Given the description of an element on the screen output the (x, y) to click on. 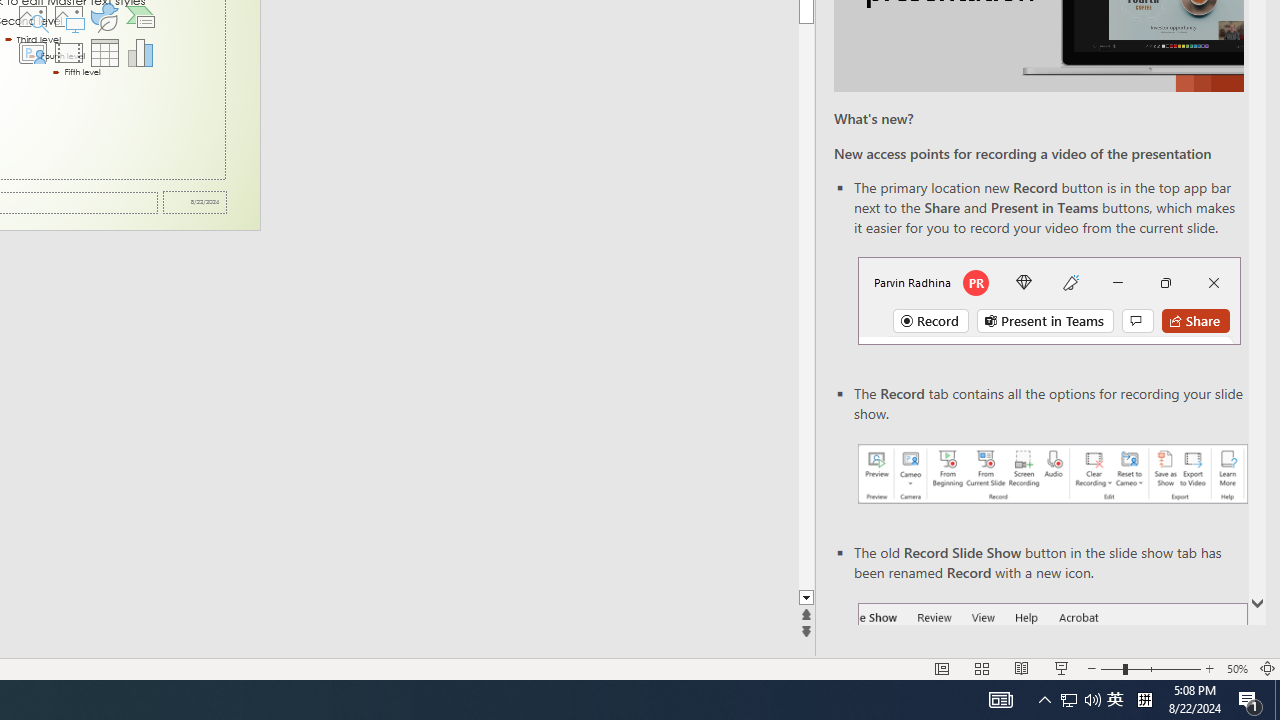
Insert Chart (141, 52)
Record your presentations screenshot one (1052, 473)
Pictures (68, 16)
Insert an Icon (105, 16)
Insert Cameo (32, 52)
Insert a SmartArt Graphic (141, 16)
Stock Images (32, 16)
